Given the description of an element on the screen output the (x, y) to click on. 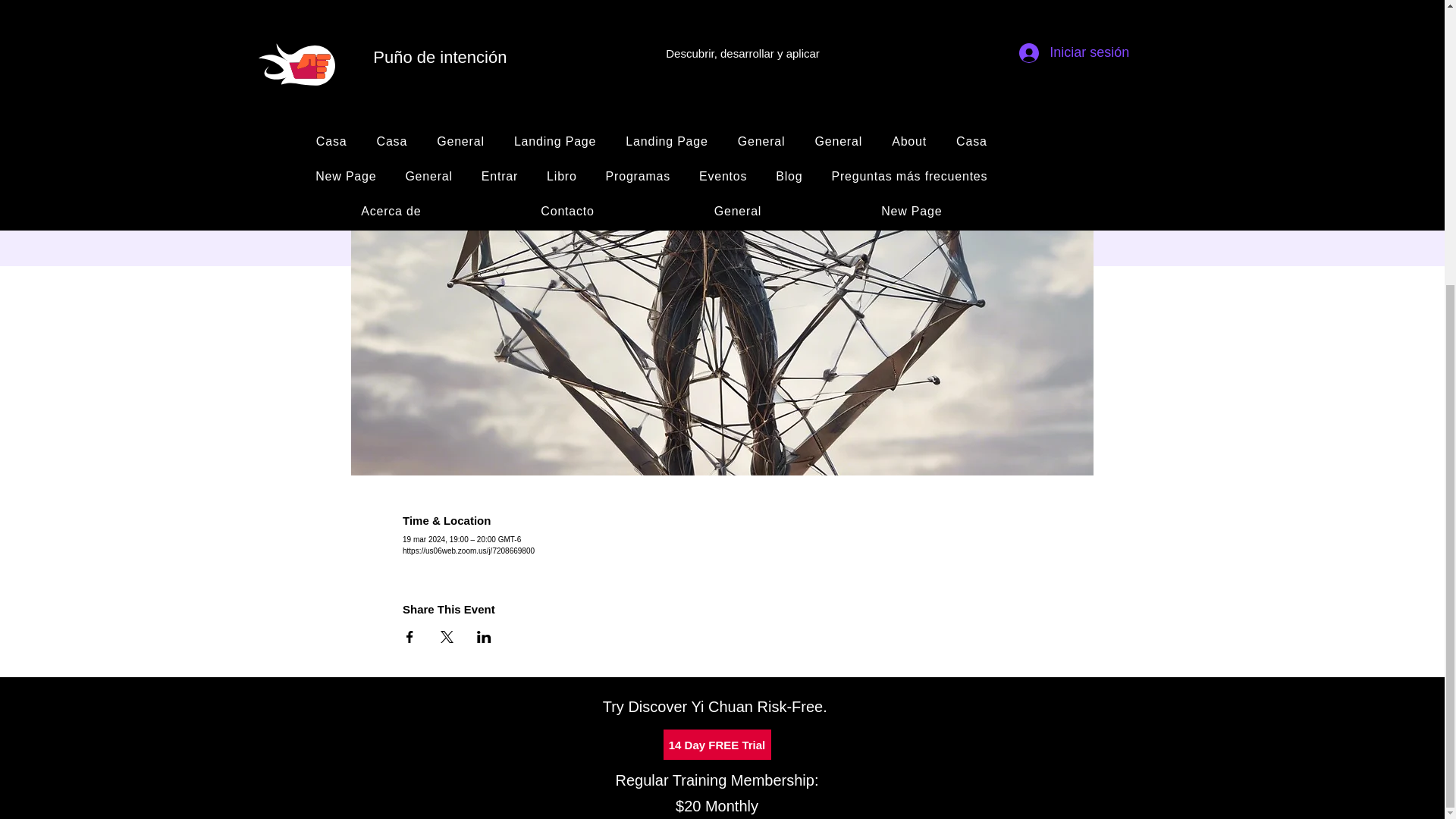
14 Day FREE Trial (716, 744)
